Given the description of an element on the screen output the (x, y) to click on. 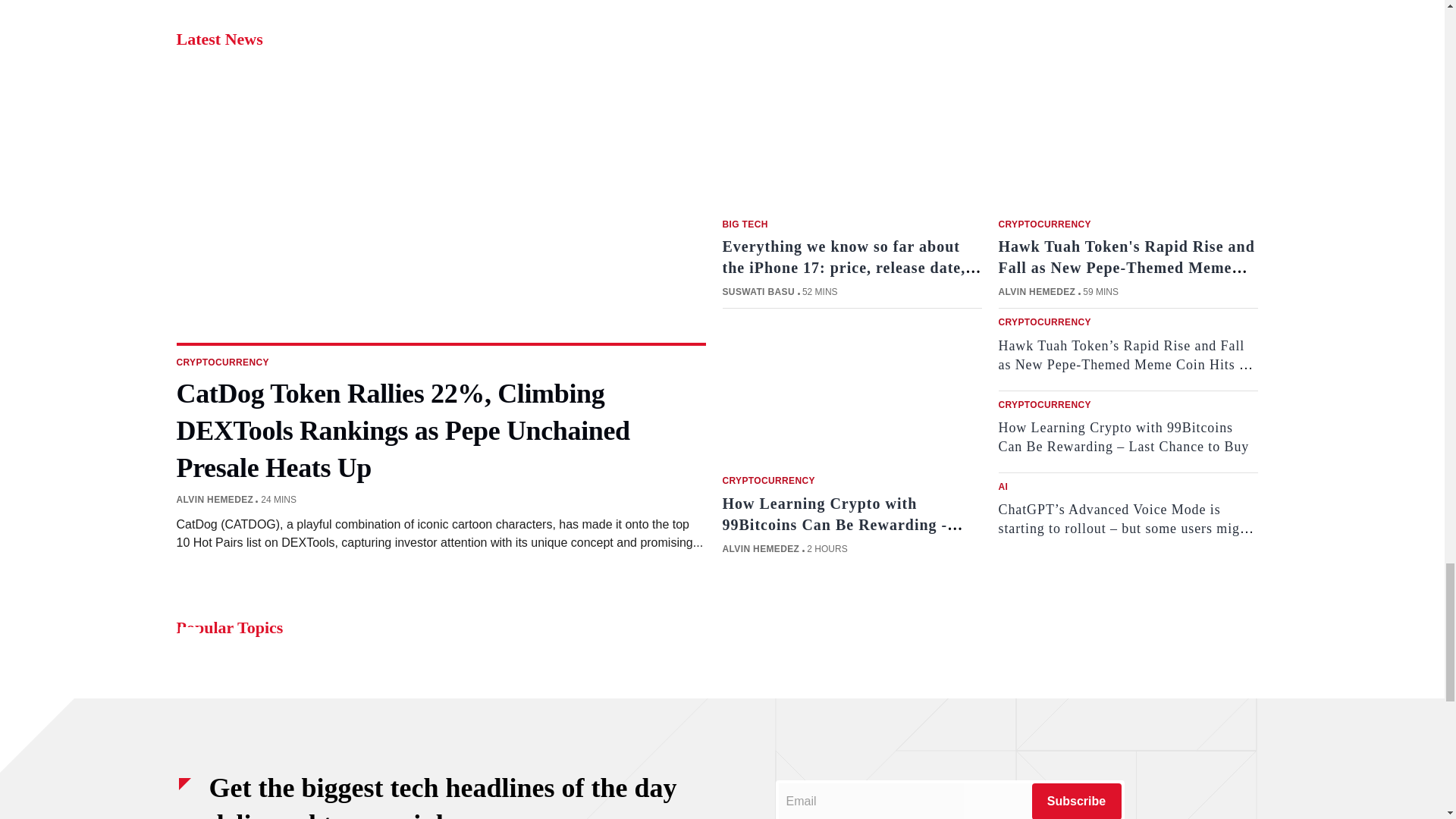
Subscribe (1075, 800)
